Given the description of an element on the screen output the (x, y) to click on. 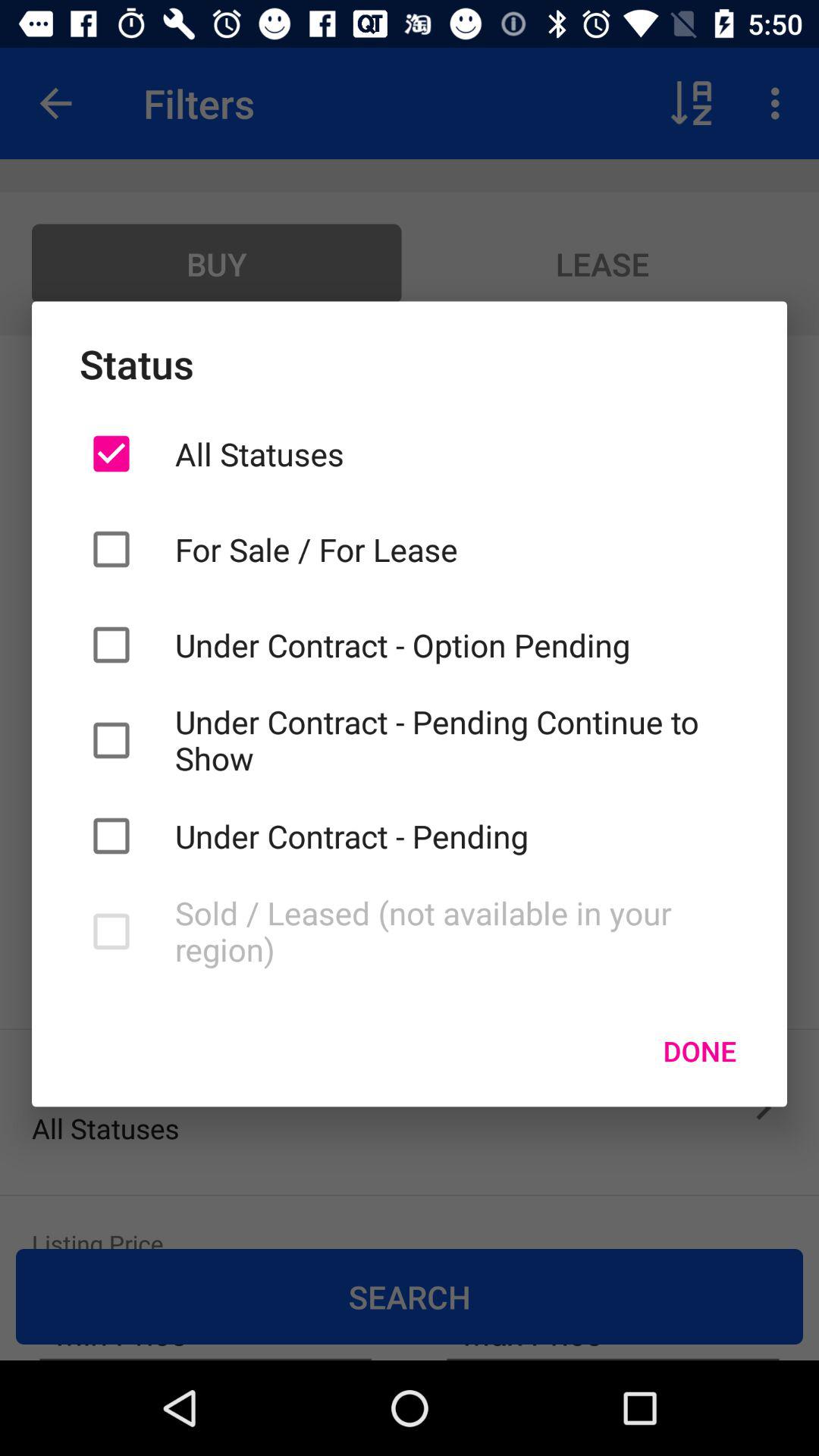
press icon below the sold leased not item (699, 1050)
